Given the description of an element on the screen output the (x, y) to click on. 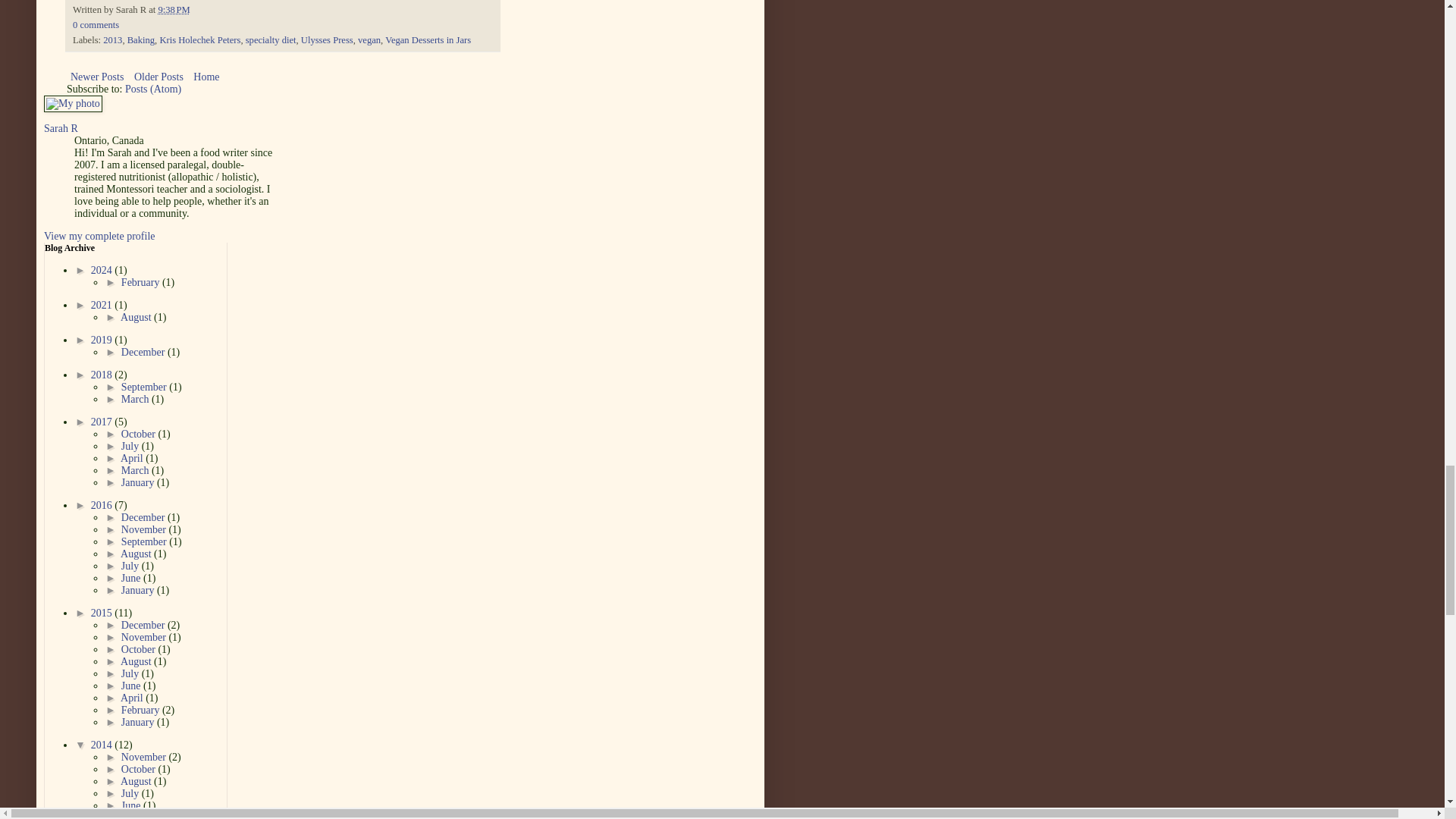
Older Posts (159, 76)
0 comments (95, 24)
vegan (369, 40)
Ulysses Press (327, 40)
Vegan Desserts in Jars (427, 40)
Older Posts (159, 76)
Sarah R (60, 128)
specialty diet (271, 40)
Newer Posts (97, 76)
View my complete profile (99, 235)
Kris Holechek Peters (199, 40)
2013 (112, 40)
2024 (102, 270)
Home (205, 76)
